Given the description of an element on the screen output the (x, y) to click on. 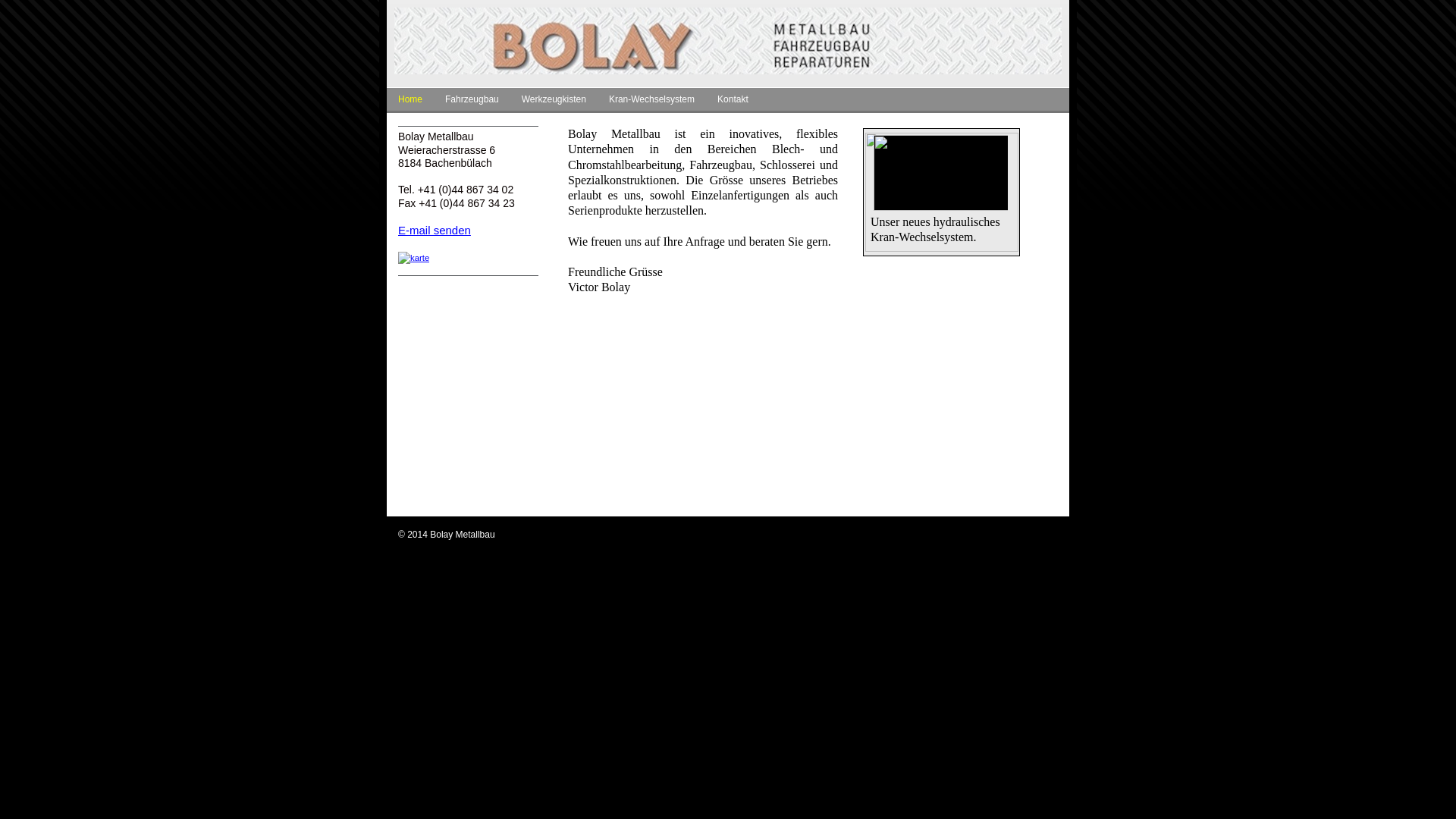
Fahrzeugbau Element type: text (471, 100)
Home Element type: text (409, 100)
Werkzeugkisten Element type: text (553, 100)
Kontakt Element type: text (732, 100)
Kran Wechselsystem Element type: hover (940, 207)
Kran-Wechselsystem Element type: text (651, 100)
E-mail senden Element type: text (434, 229)
